Given the description of an element on the screen output the (x, y) to click on. 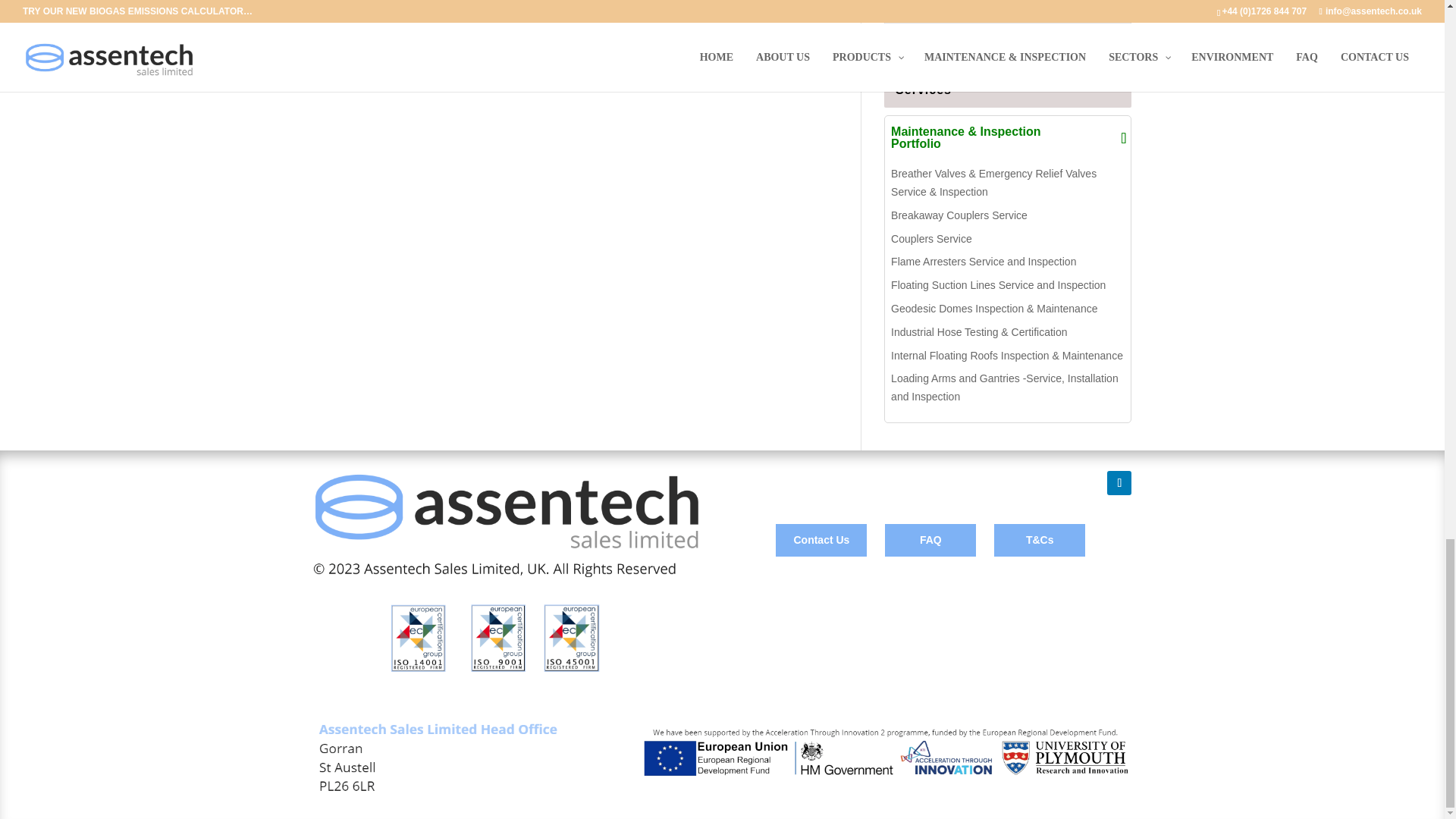
Follow on LinkedIn (1118, 482)
assentech footer (722, 756)
Assentech (505, 572)
